Given the description of an element on the screen output the (x, y) to click on. 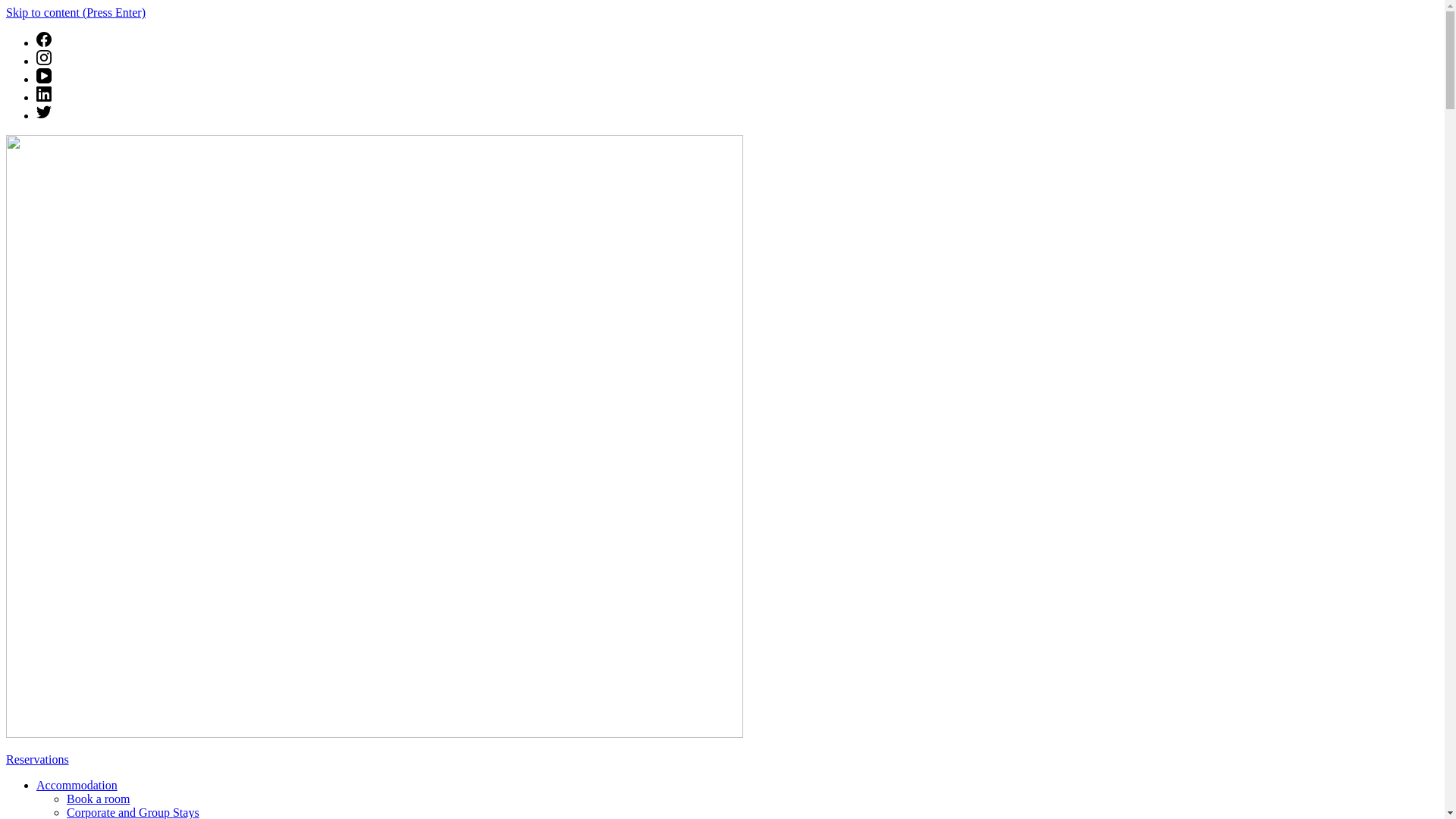
Book a room Element type: text (98, 798)
Skip to content (Press Enter) Element type: text (75, 12)
Reservations Element type: text (37, 759)
Accommodation Element type: text (76, 784)
